Given the description of an element on the screen output the (x, y) to click on. 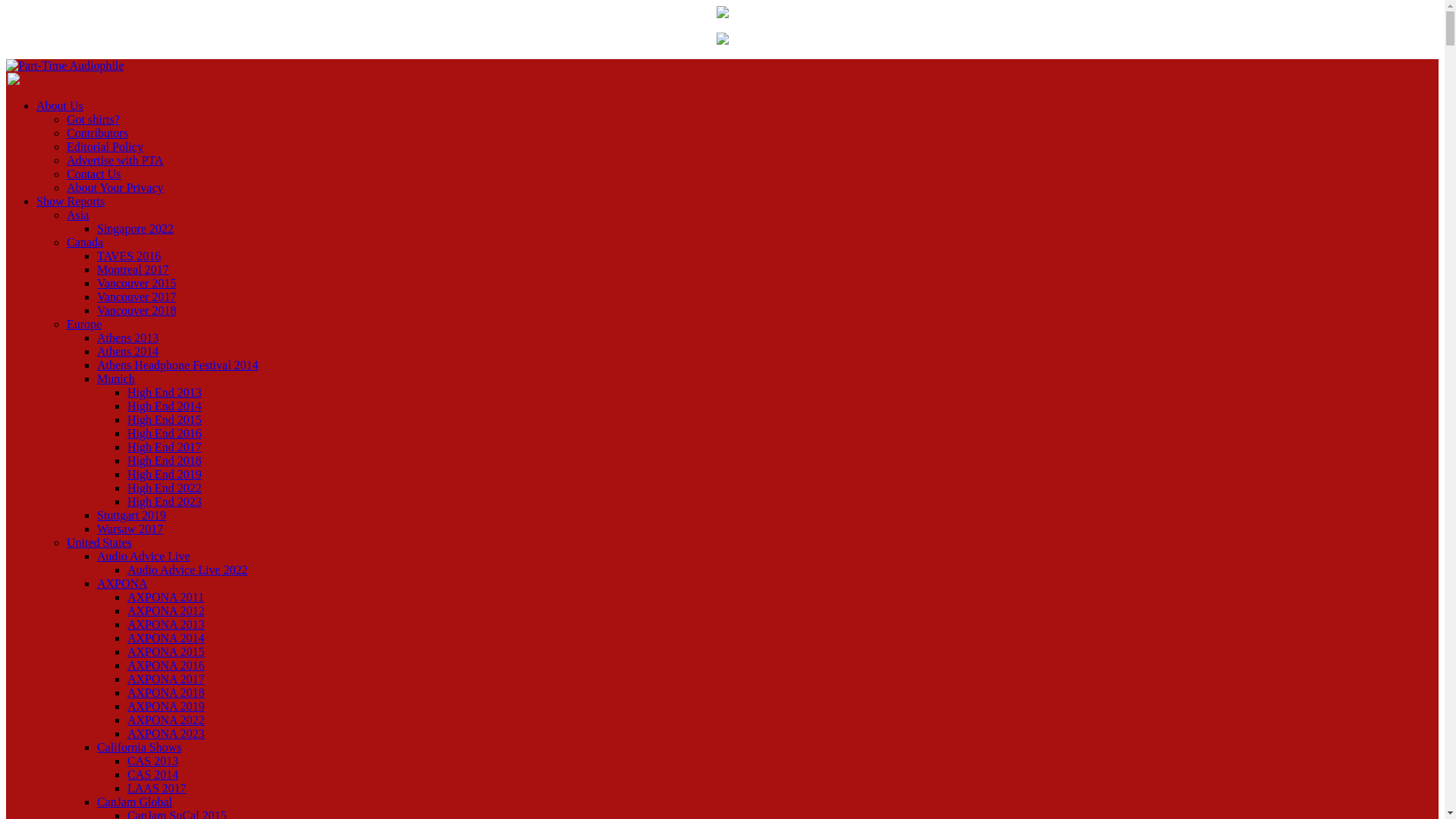
Asia (77, 214)
Advertise with PTA (114, 160)
High End 2013 (165, 391)
High End 2014 (165, 405)
Got shirts? (92, 119)
High End 2018 (165, 460)
Contact Us (93, 173)
Athens 2013 (127, 337)
About Your Privacy (114, 187)
Munich (116, 378)
